Given the description of an element on the screen output the (x, y) to click on. 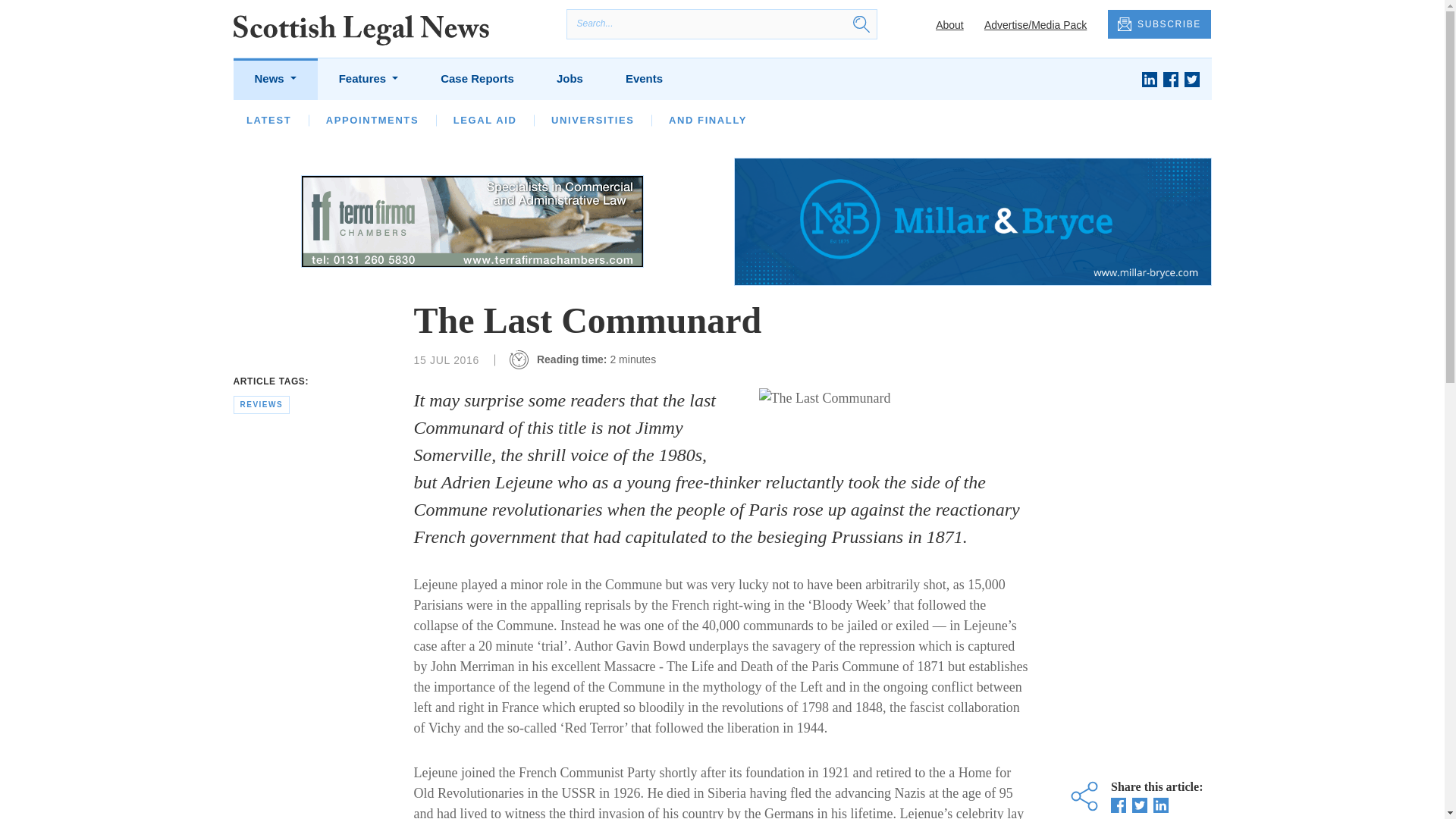
AND FINALLY (707, 120)
OPINION (350, 120)
LEGAL AID (484, 120)
Features (368, 78)
SUBSCRIBE (1158, 24)
LAWYER OF THE MONTH (481, 120)
Jobs (569, 78)
News (274, 78)
Events (644, 78)
APPOINTMENTS (372, 120)
UNIVERSITIES (592, 120)
OUR LEGAL HERITAGE (654, 120)
Case Reports (477, 78)
REVIEWS (782, 120)
About (949, 24)
